Given the description of an element on the screen output the (x, y) to click on. 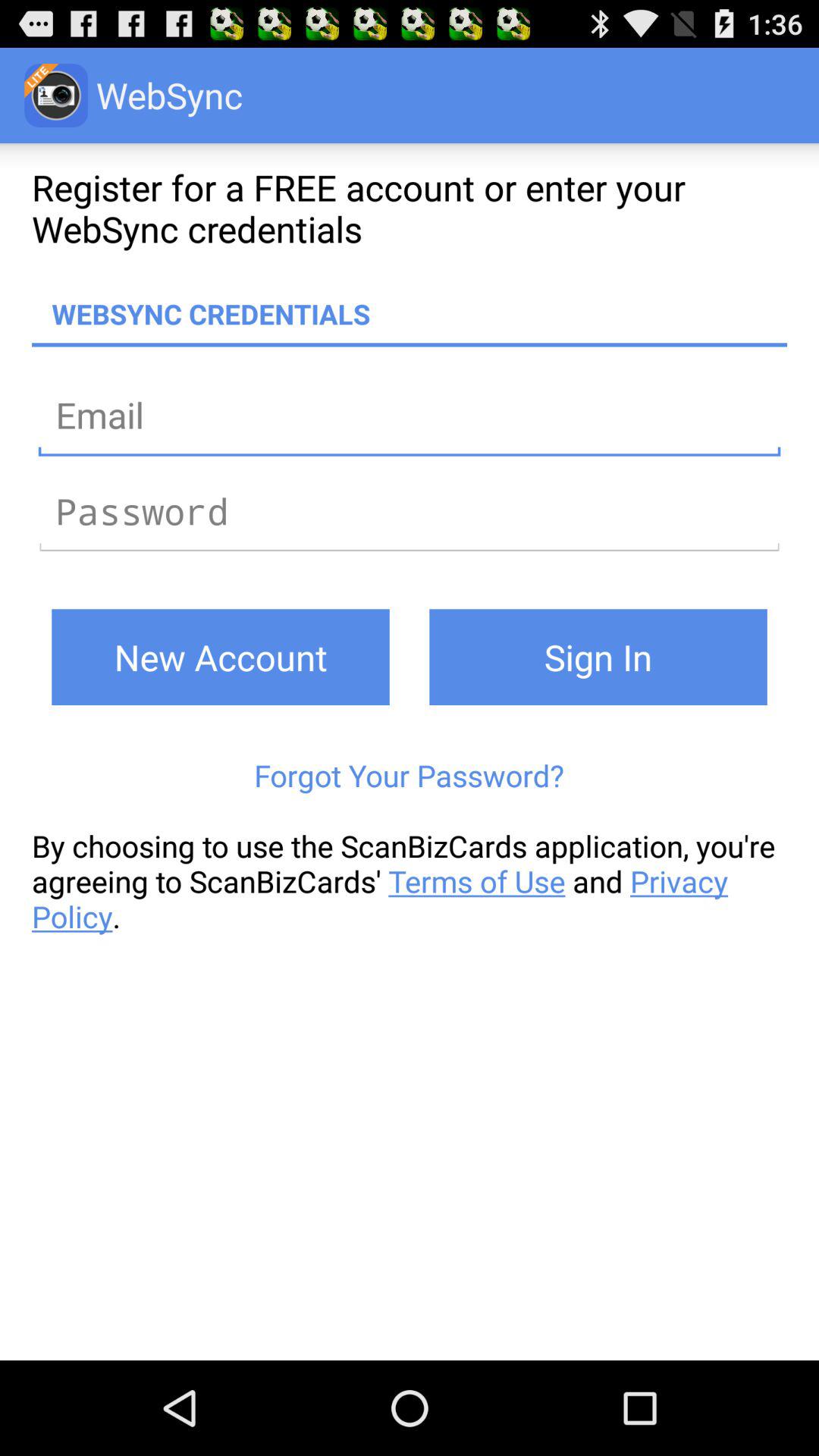
press the forgot your password? icon (409, 775)
